Given the description of an element on the screen output the (x, y) to click on. 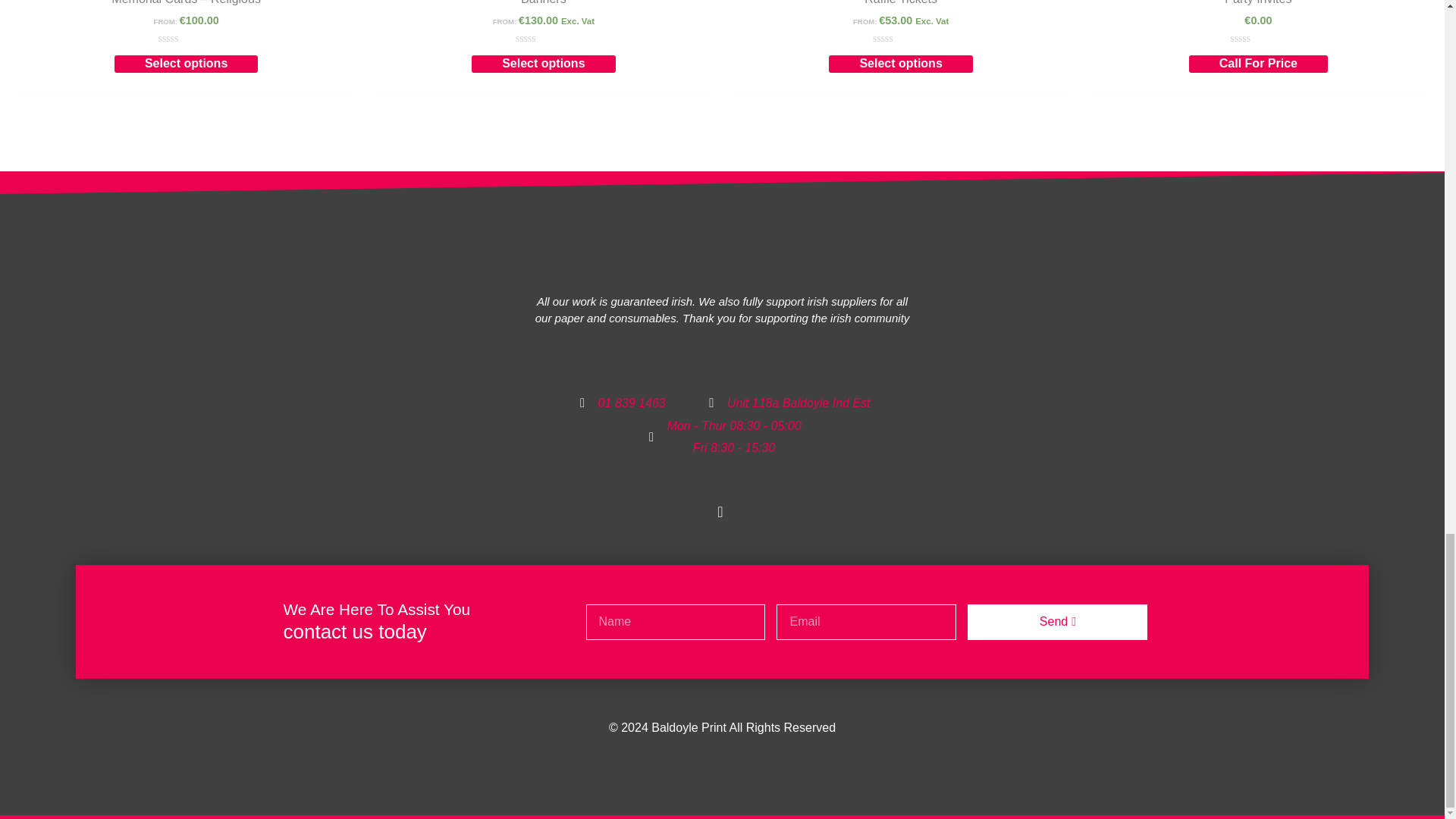
Banners (543, 6)
Select options (542, 63)
Select options (900, 63)
Raffle Tickets (901, 6)
Select options (186, 63)
